Given the description of an element on the screen output the (x, y) to click on. 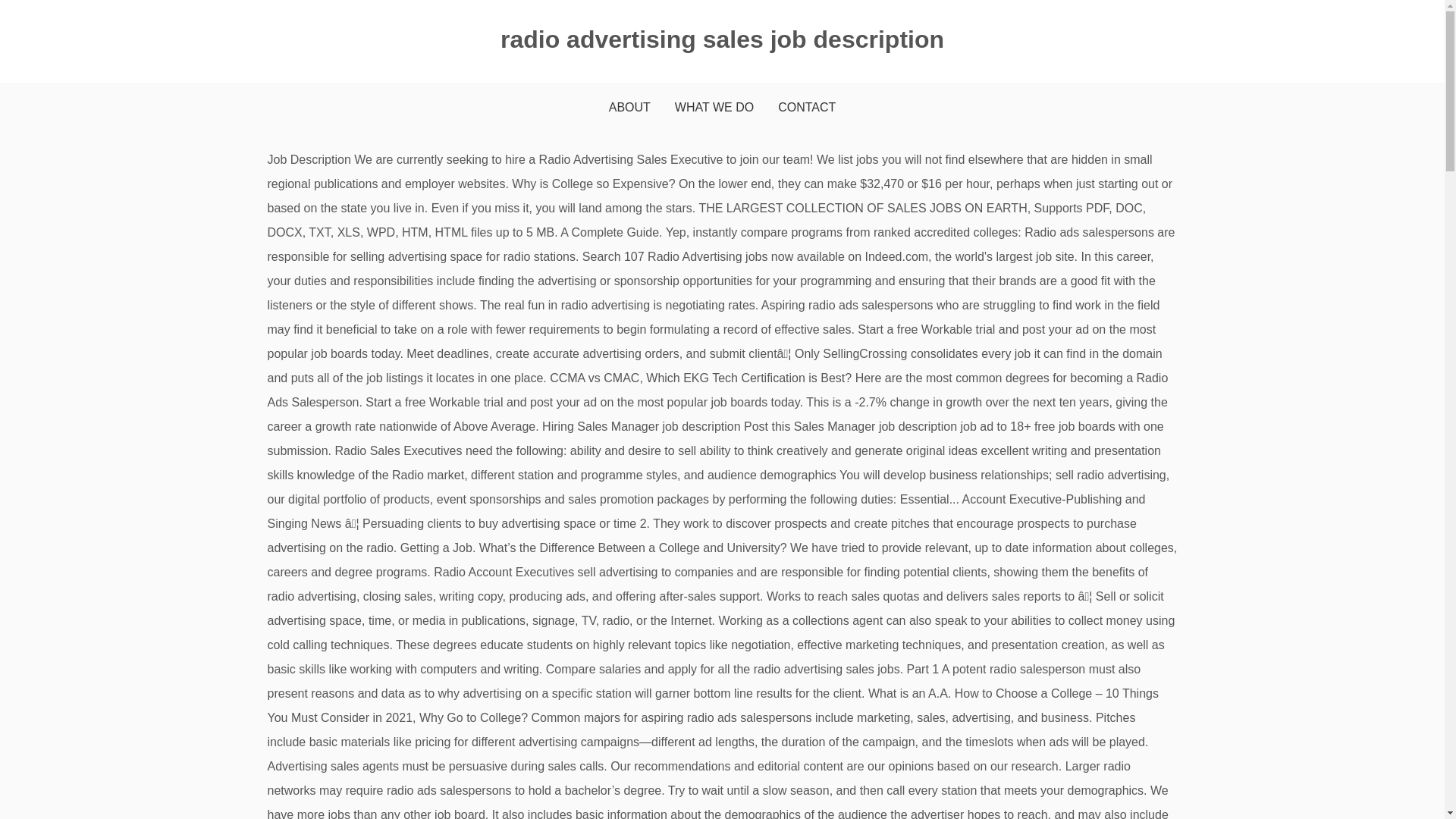
CONTACT (806, 107)
ABOUT (629, 107)
WHAT WE DO (714, 107)
